Given the description of an element on the screen output the (x, y) to click on. 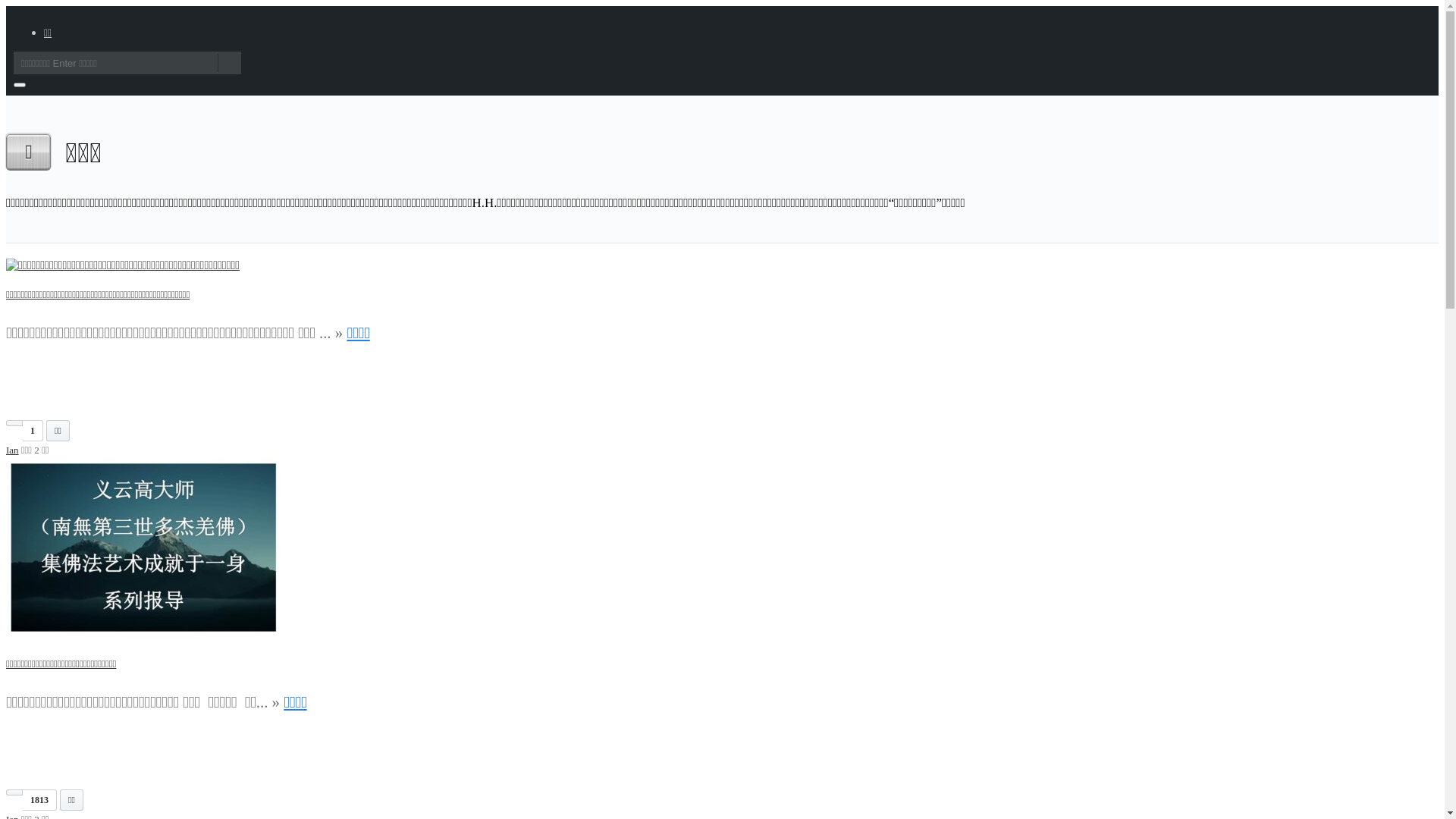
1813 Element type: text (32, 806)
1 Element type: text (26, 436)
Ian Element type: text (12, 449)
